Given the description of an element on the screen output the (x, y) to click on. 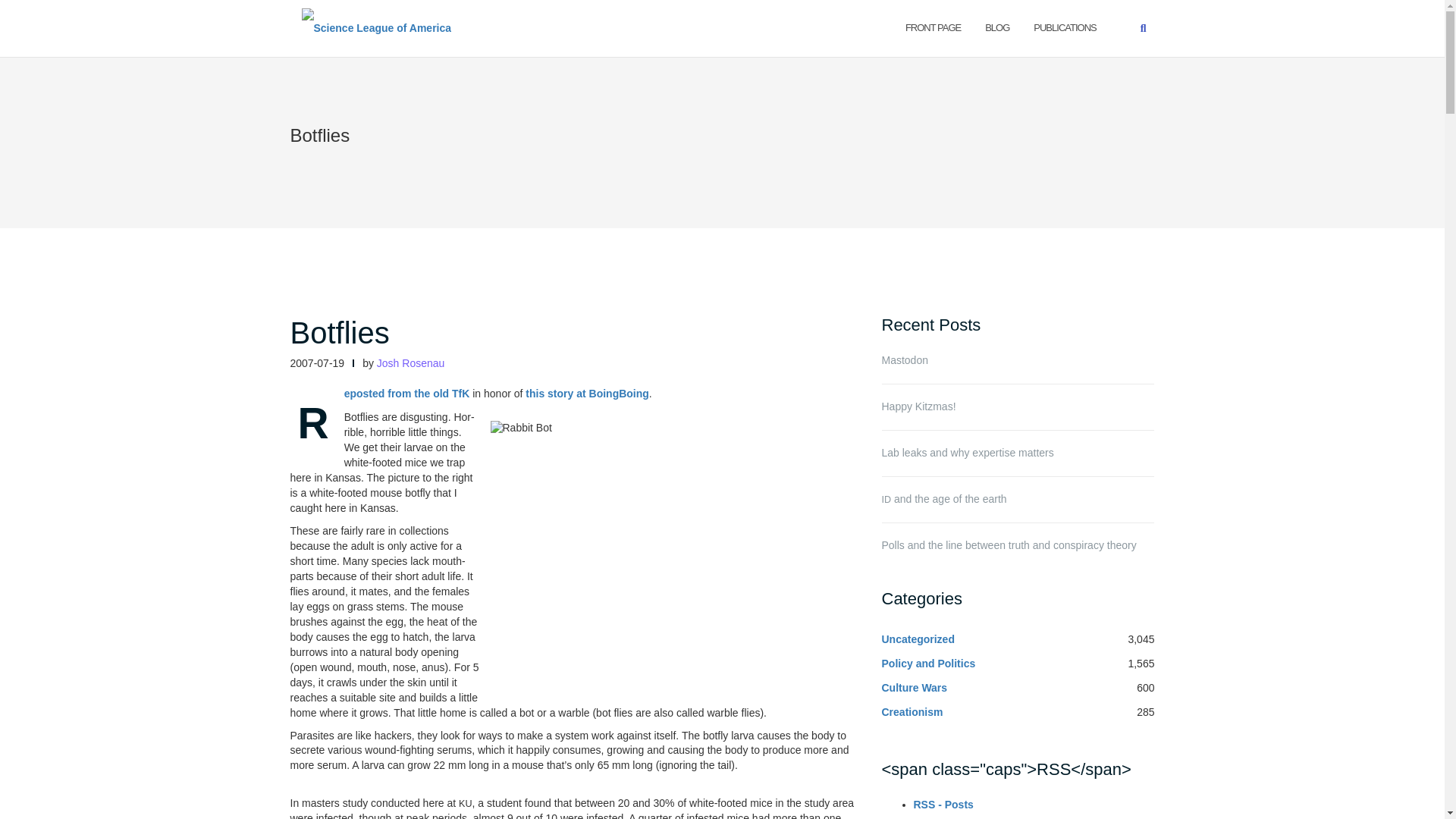
Josh Rosenau (411, 363)
Josh Rosenau (411, 363)
Botflies (338, 332)
FRONT PAGE (932, 28)
Publications (1064, 28)
PUBLICATIONS (1064, 28)
Rabbit Bot (669, 555)
Front Page (932, 28)
